Given the description of an element on the screen output the (x, y) to click on. 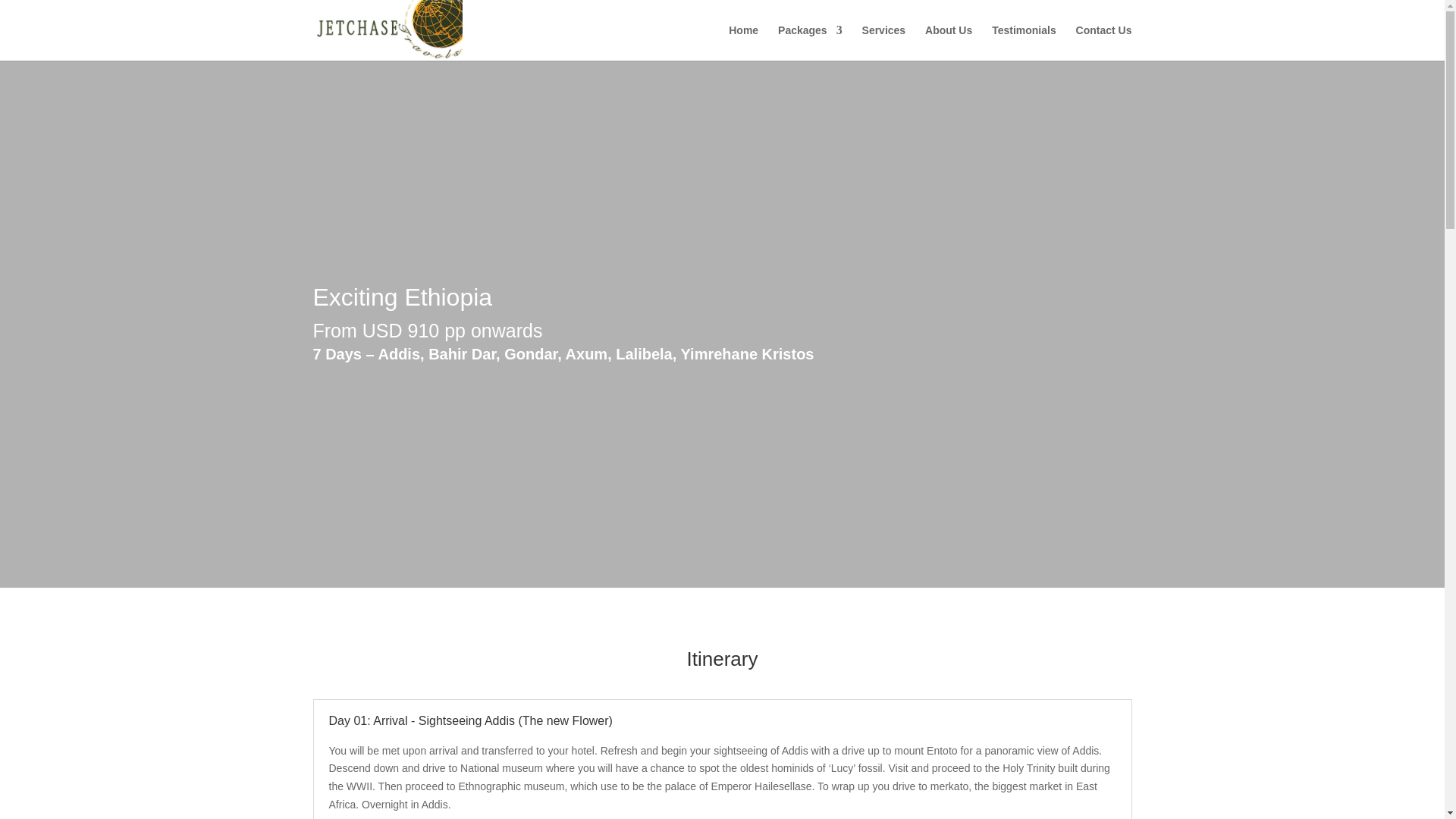
Contact Us (1103, 42)
Packages (810, 42)
Services (883, 42)
About Us (948, 42)
Testimonials (1024, 42)
